Given the description of an element on the screen output the (x, y) to click on. 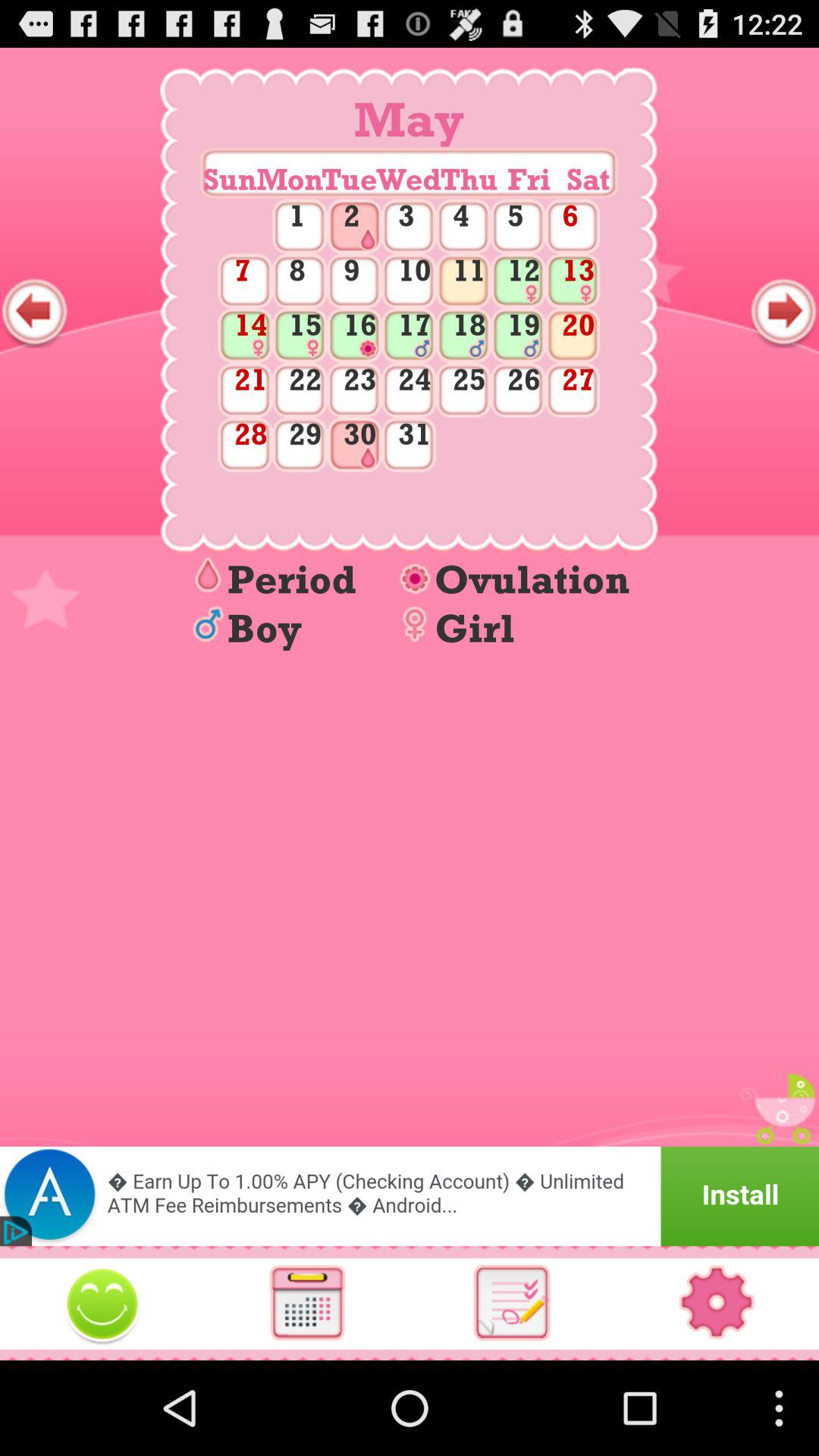
go to previous (34, 311)
